Given the description of an element on the screen output the (x, y) to click on. 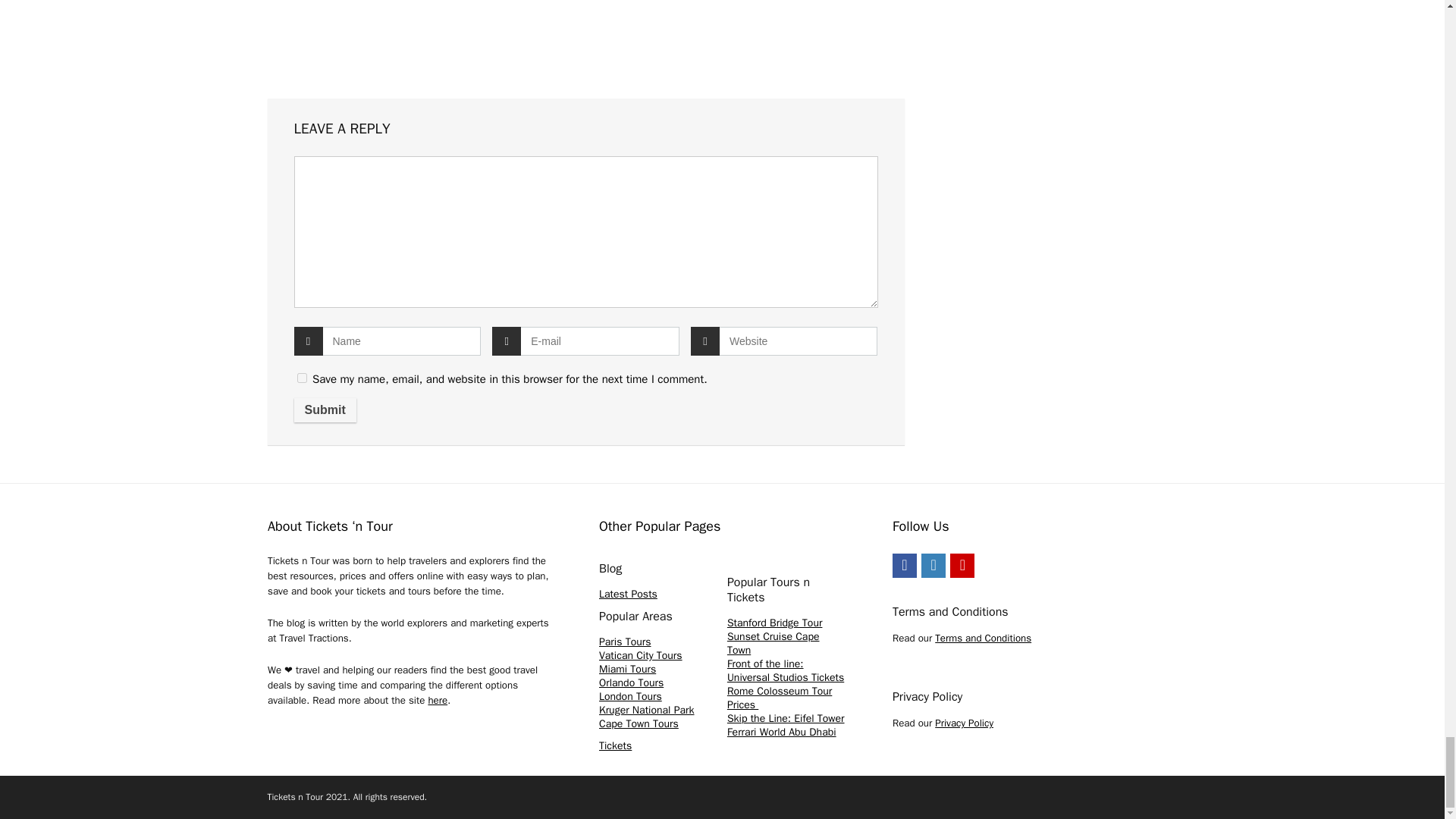
Submit (325, 410)
yes (302, 378)
Instagramm (932, 565)
Facebook (904, 565)
Youtube (962, 565)
